Given the description of an element on the screen output the (x, y) to click on. 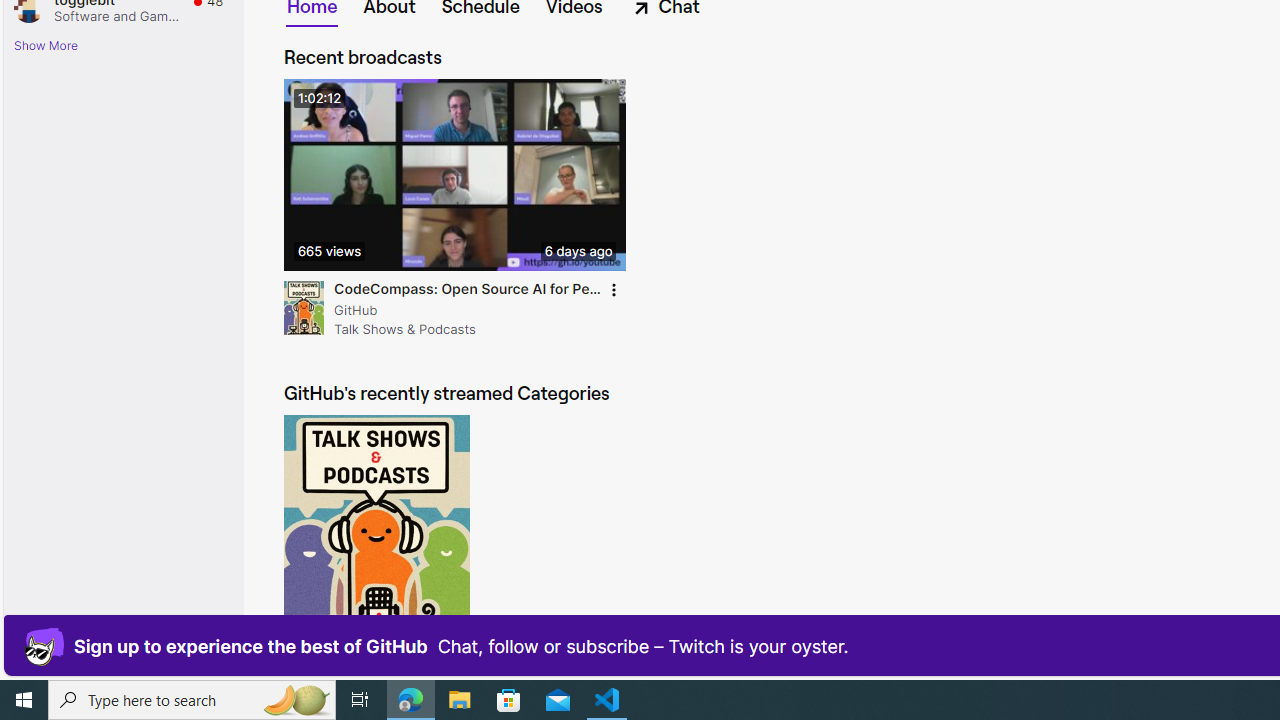
Show More (46, 44)
Talk Shows & Podcasts (303, 307)
CoolCat (44, 645)
Talk Shows & Podcasts (303, 307)
Talk Shows & Podcasts cover image (376, 538)
GitHub (468, 310)
Talk Shows & Podcasts cover image (376, 538)
